Given the description of an element on the screen output the (x, y) to click on. 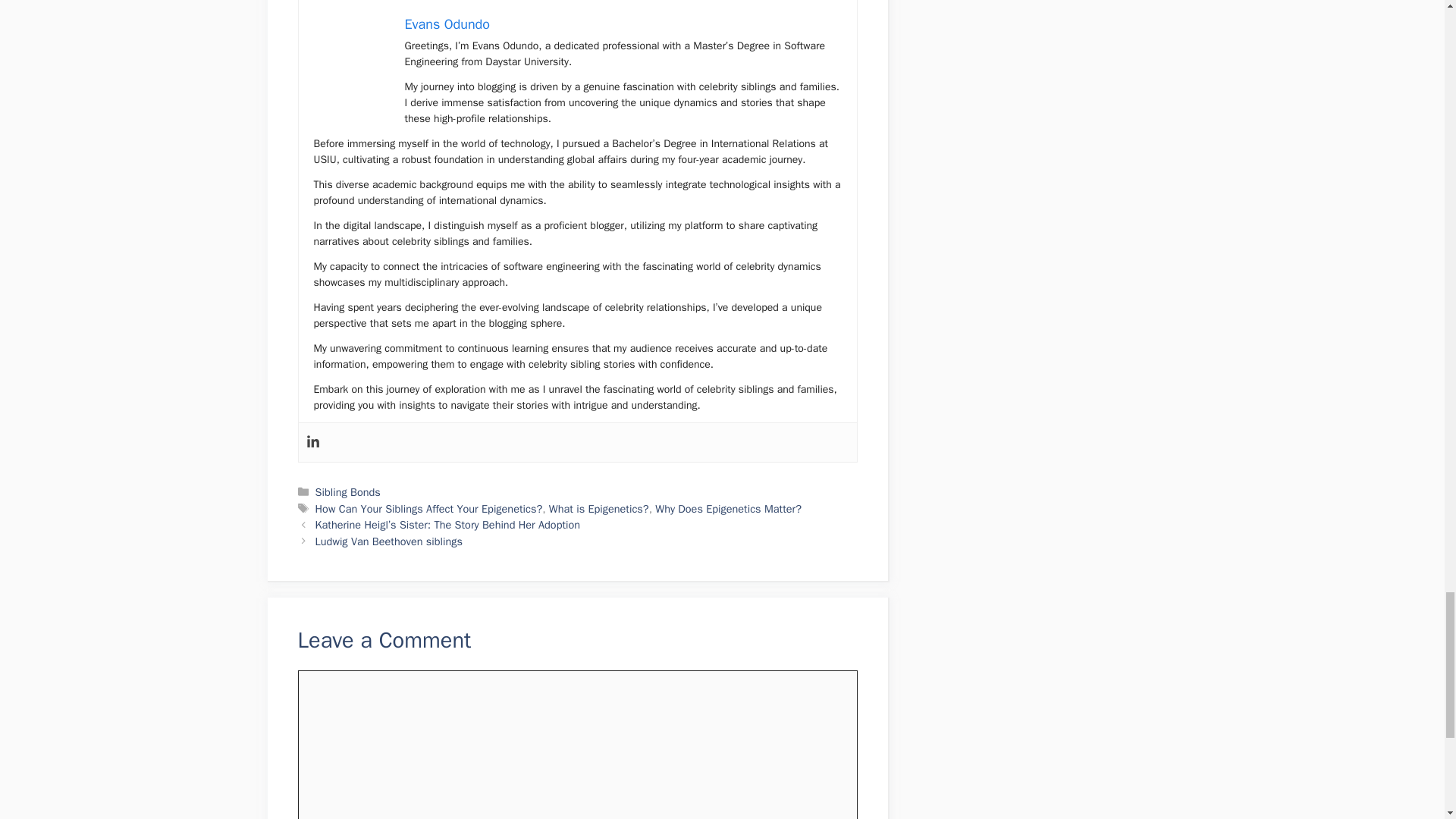
Ludwig Van Beethoven siblings (389, 540)
Sibling Bonds (347, 491)
Why Does Epigenetics Matter? (728, 508)
Evans Odundo (447, 23)
What is Epigenetics? (598, 508)
How Can Your Siblings Affect Your Epigenetics? (429, 508)
